Given the description of an element on the screen output the (x, y) to click on. 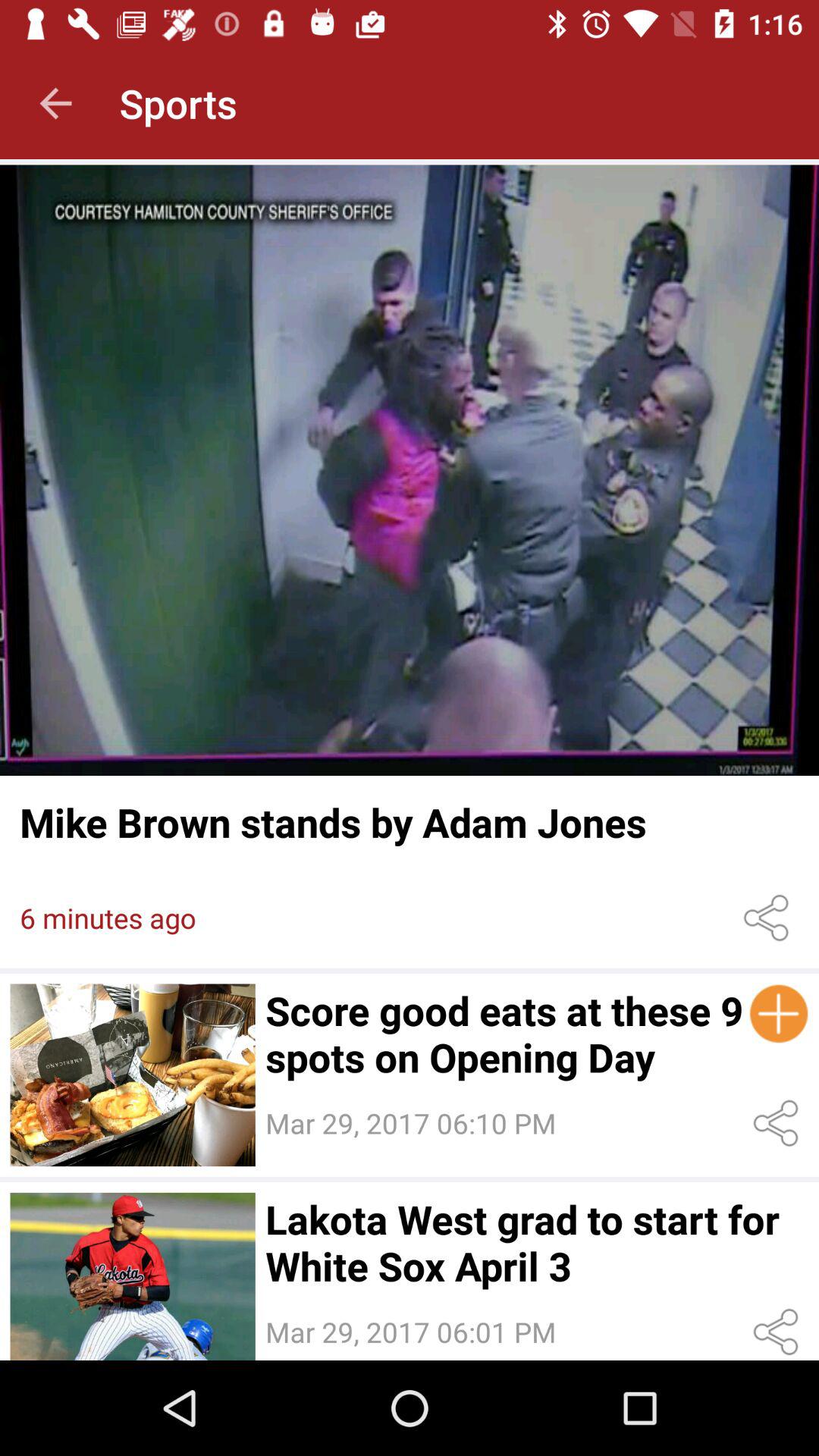
share (778, 1123)
